Given the description of an element on the screen output the (x, y) to click on. 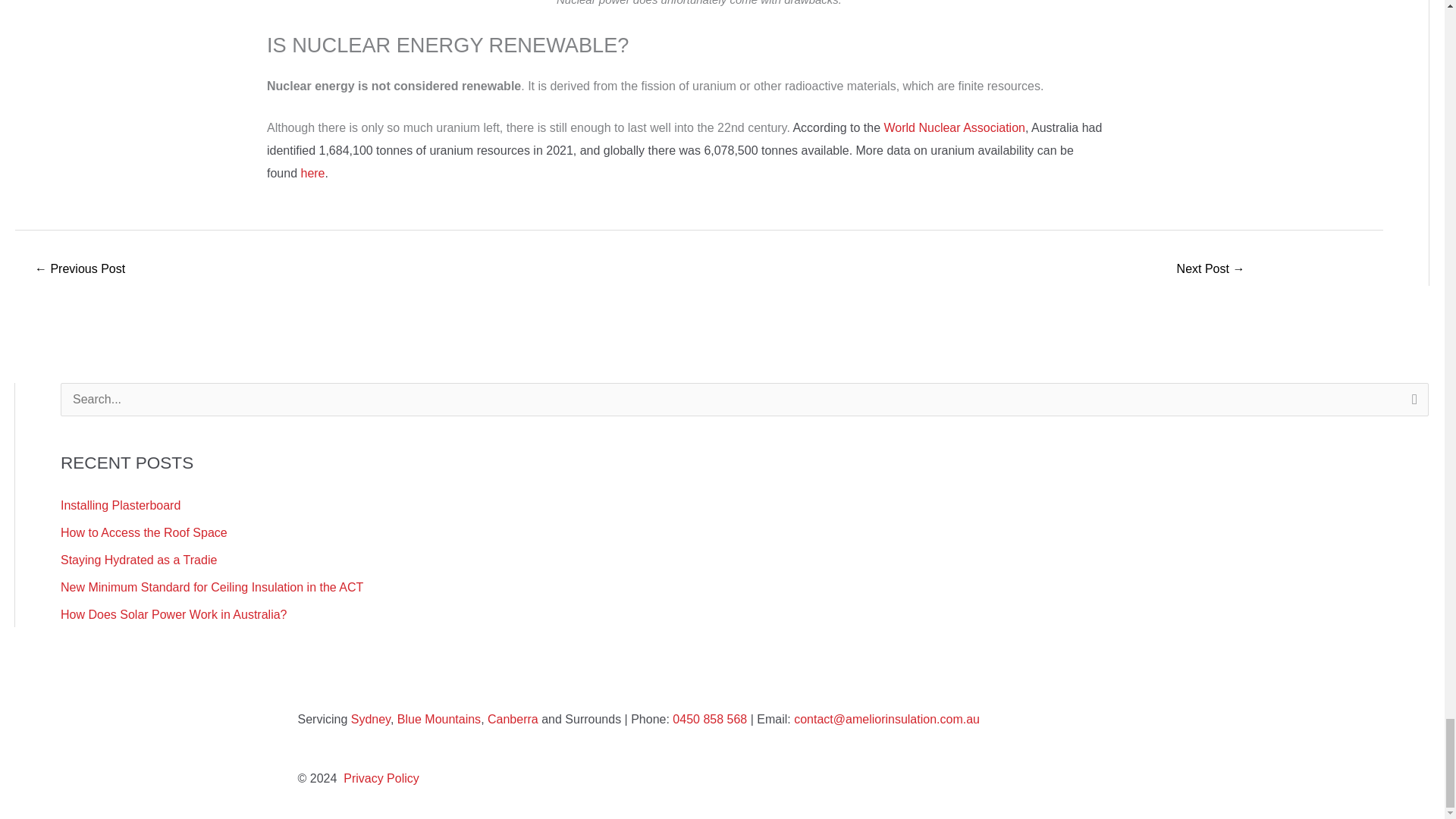
Acoustic Sound Insulation (1210, 270)
Search (1411, 404)
Air Conditioner Installation and Maintenance (79, 270)
Search (1411, 404)
